Given the description of an element on the screen output the (x, y) to click on. 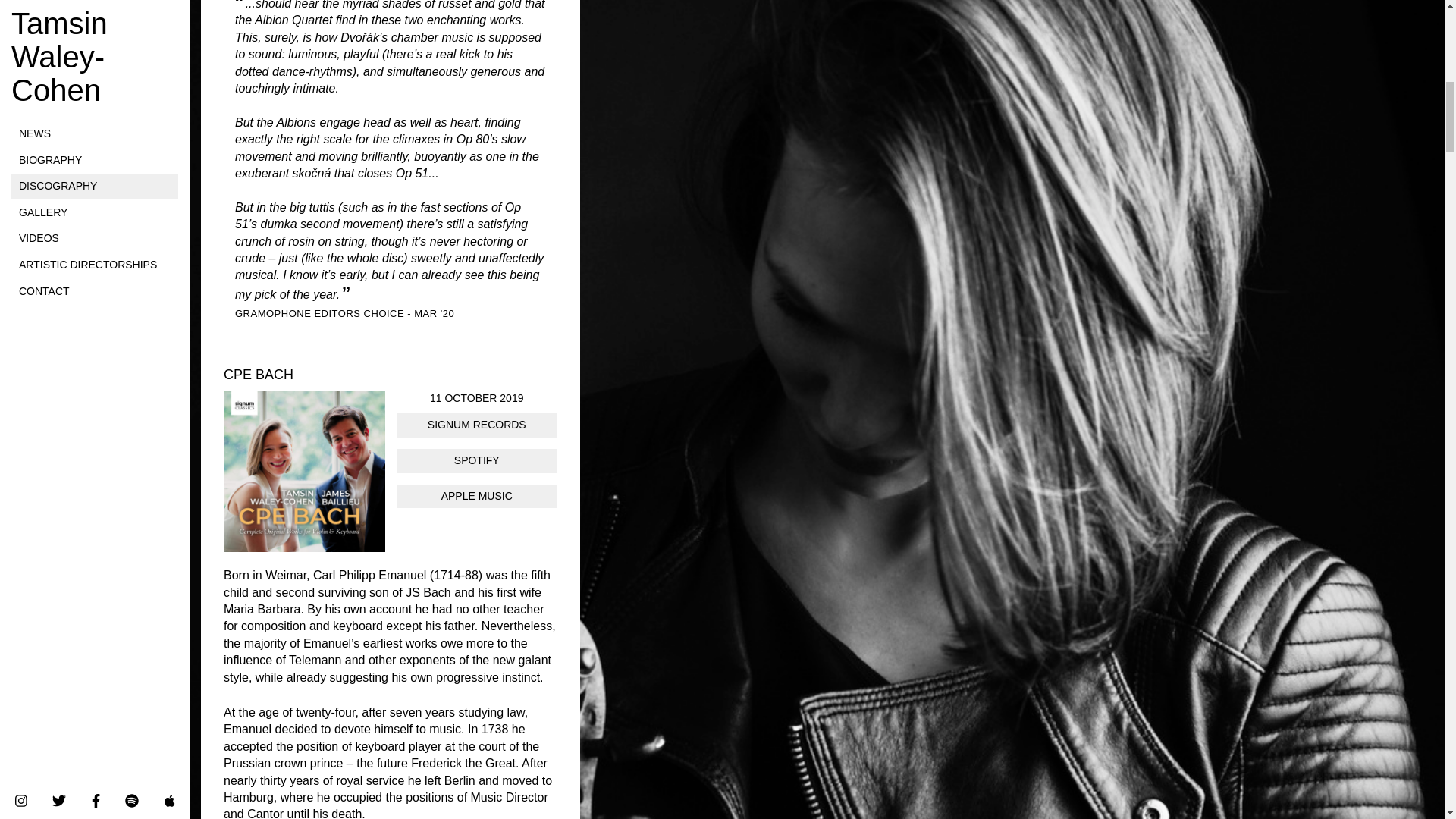
SPOTIFY (476, 460)
SIGNUM RECORDS (476, 425)
APPLE MUSIC (476, 496)
